Given the description of an element on the screen output the (x, y) to click on. 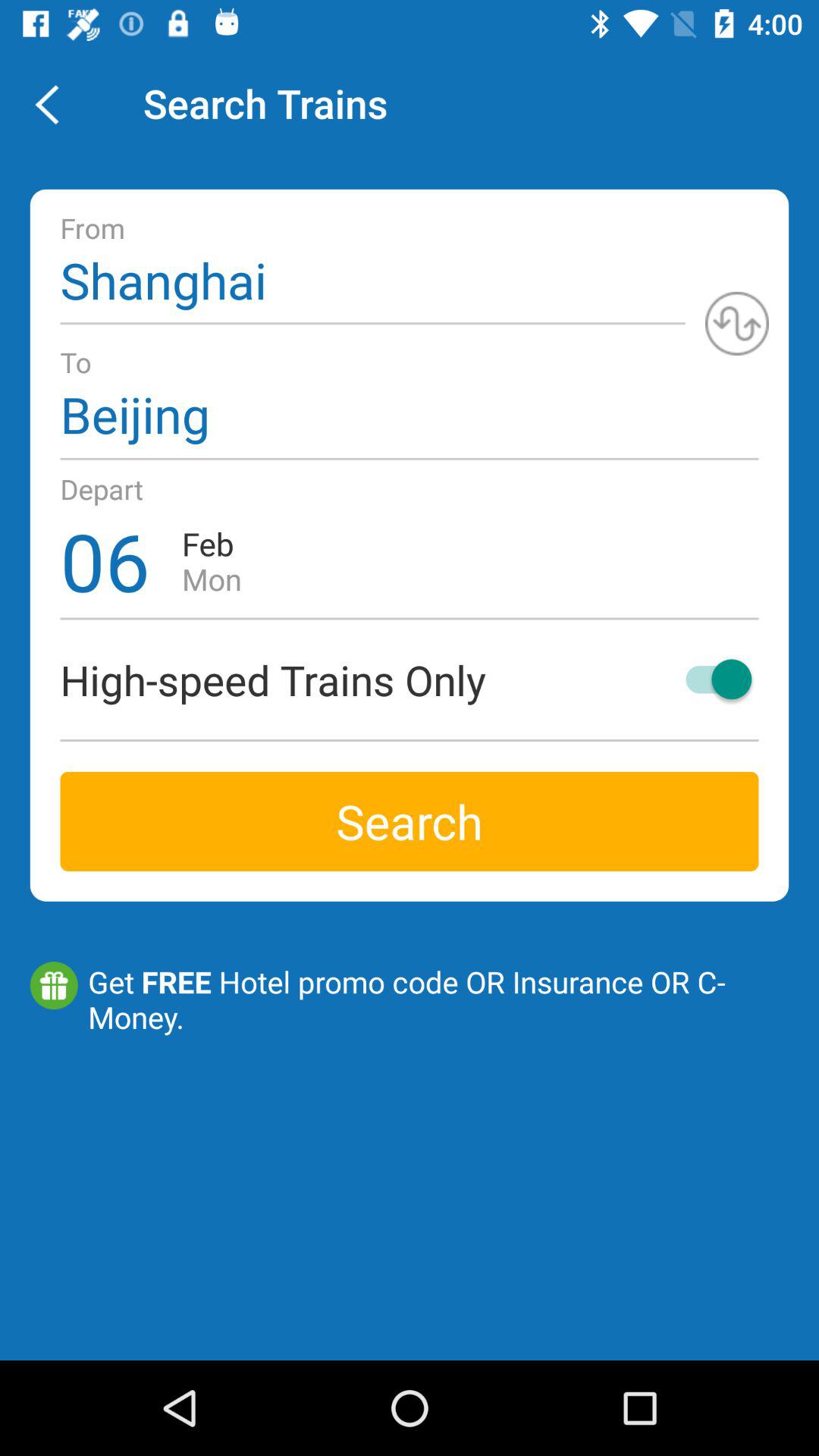
launch the icon above the from item (55, 103)
